Given the description of an element on the screen output the (x, y) to click on. 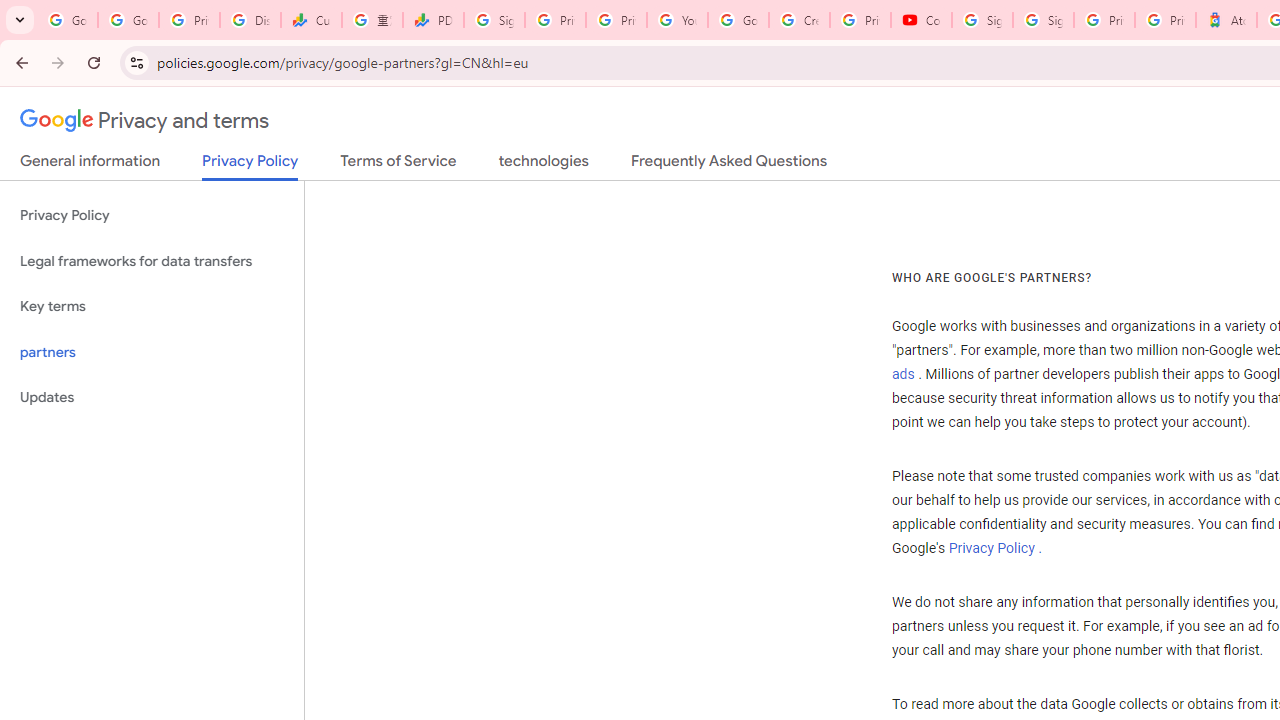
Frequently Asked Questions (727, 165)
General information (90, 165)
Privacy and terms (145, 121)
Google Workspace Admin Community (67, 20)
